Given the description of an element on the screen output the (x, y) to click on. 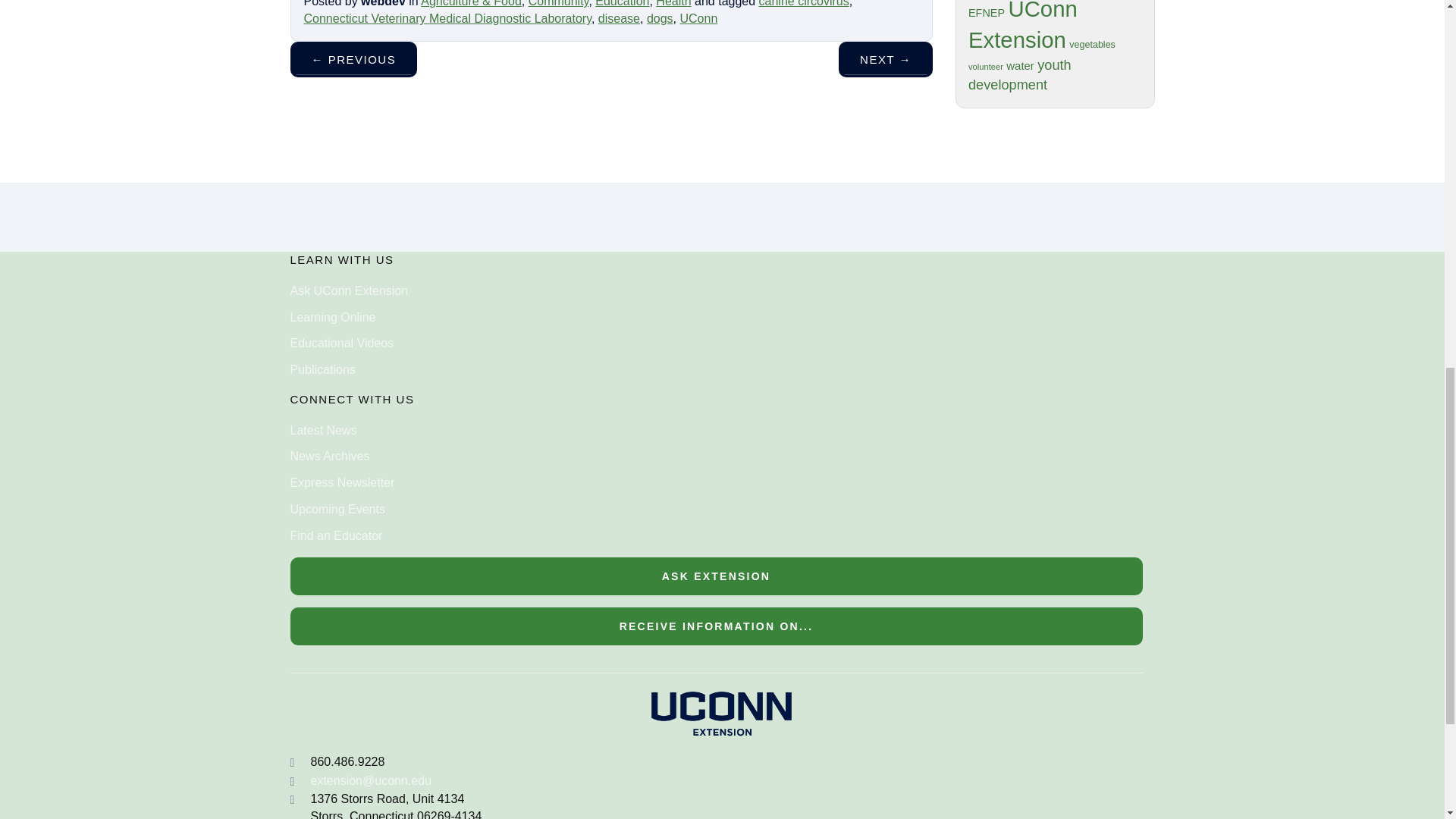
Connecticut Veterinary Medical Diagnostic Laboratory (446, 18)
canine circovirus (803, 3)
Education (622, 3)
disease (619, 18)
Health (673, 3)
Community (558, 3)
dogs (659, 18)
